Given the description of an element on the screen output the (x, y) to click on. 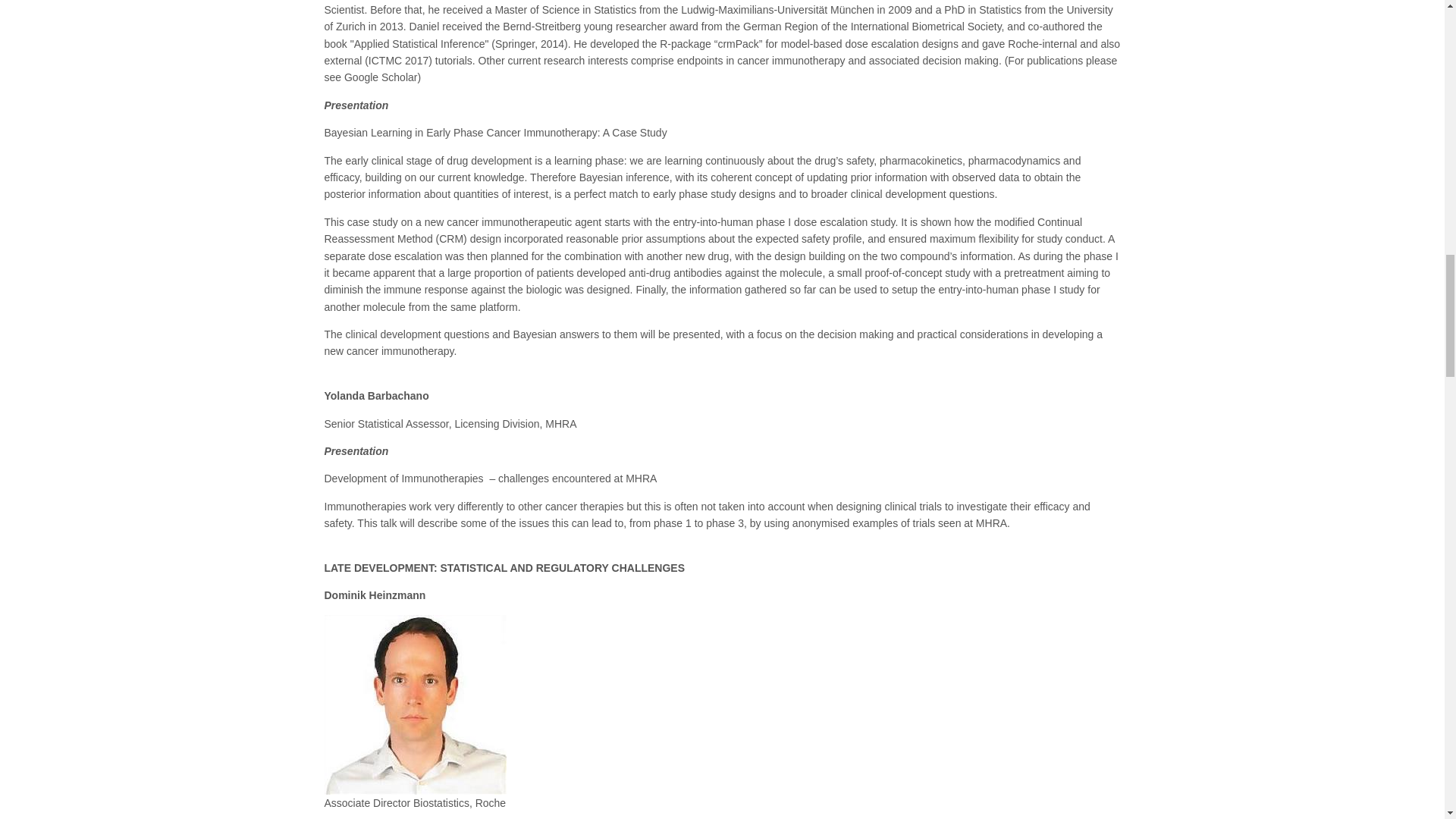
Dominik Heinzmann (415, 704)
